Given the description of an element on the screen output the (x, y) to click on. 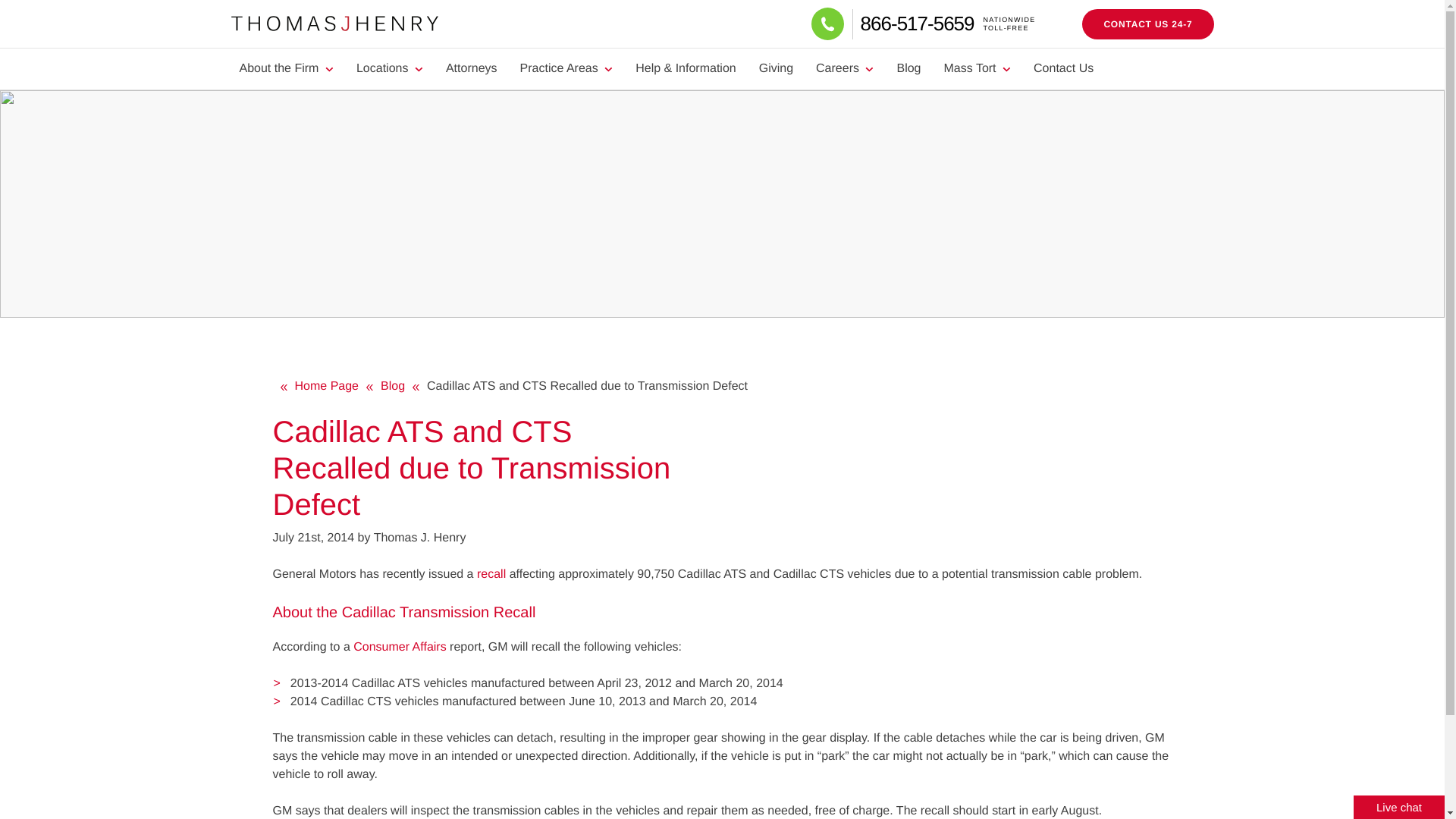
Careers (845, 68)
Locations (389, 68)
Practice Areas (566, 68)
Giving (776, 68)
CONTACT US 24-7 (1146, 24)
Attorneys (470, 68)
CONTACT US 24-7 (1146, 24)
About the Firm (946, 23)
